Given the description of an element on the screen output the (x, y) to click on. 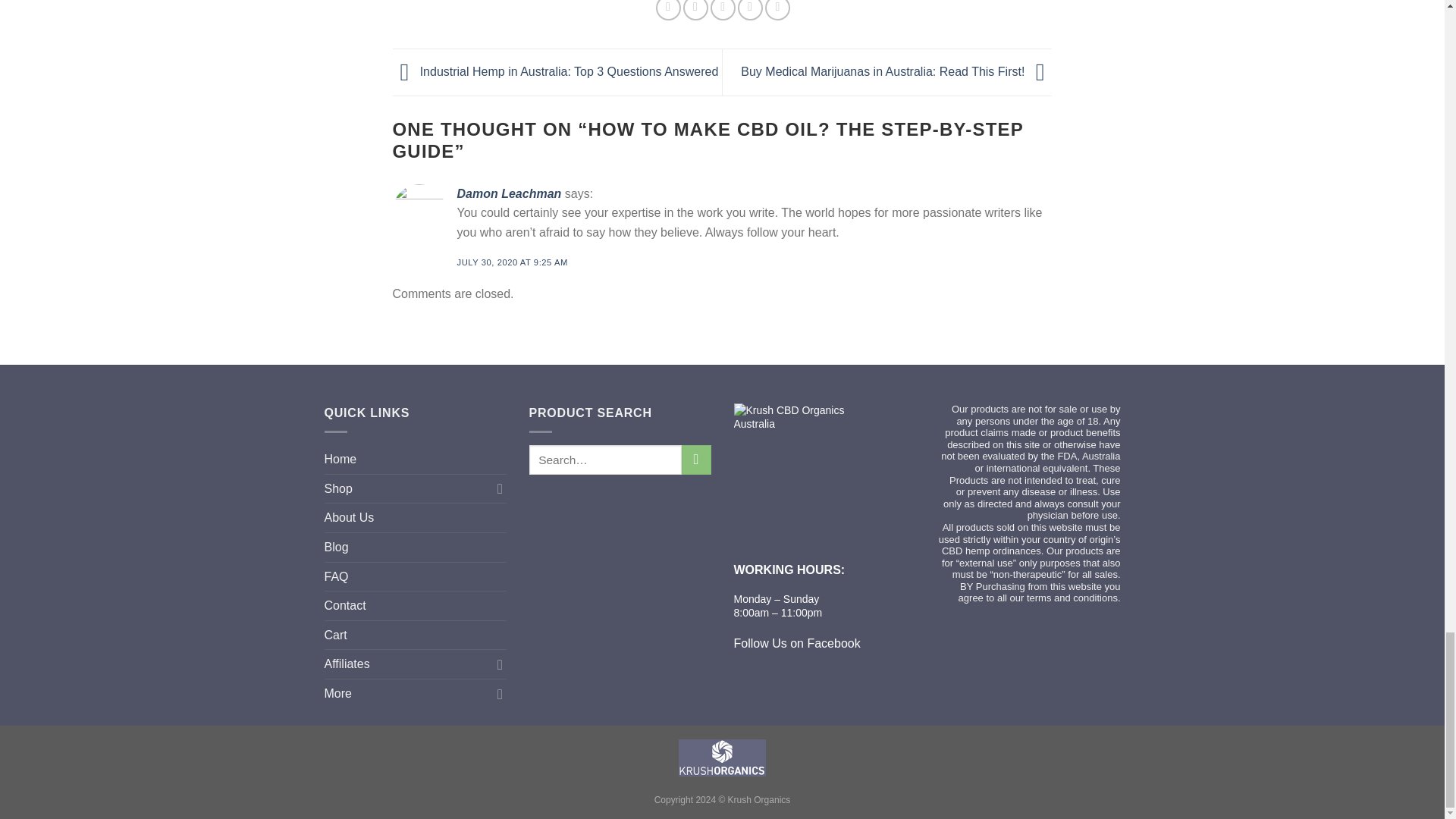
Share on LinkedIn (777, 10)
Share on Facebook (668, 10)
Email to a Friend (722, 10)
Share on Twitter (694, 10)
Pin on Pinterest (750, 10)
